Given the description of an element on the screen output the (x, y) to click on. 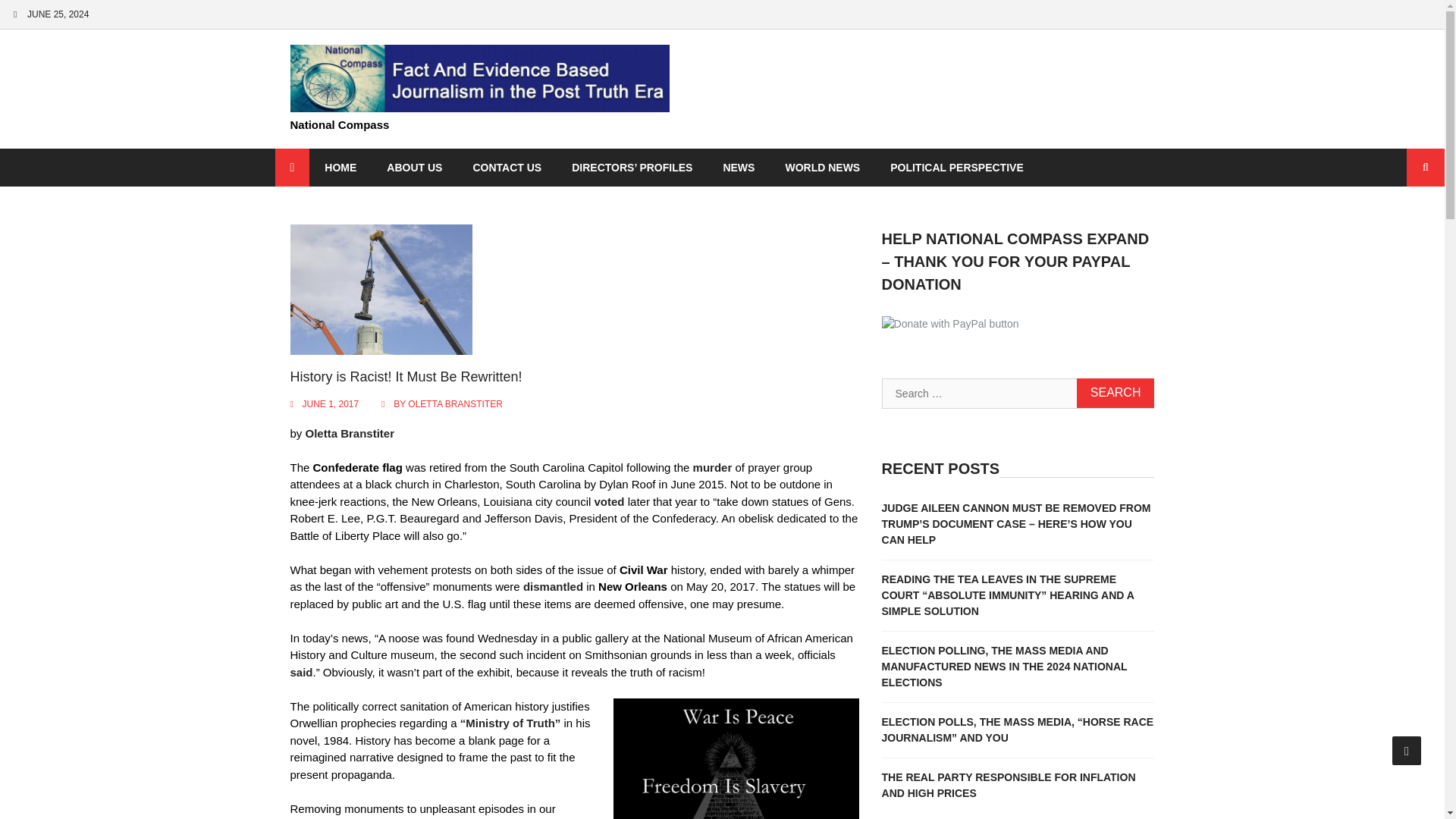
ABOUT US (414, 167)
Oletta Branstiter (349, 432)
voted (609, 501)
Search (1115, 392)
Search (1115, 392)
PayPal - The safer, easier way to pay online! (950, 324)
dismantled (552, 585)
NEWS (738, 167)
said (301, 671)
CONTACT US (506, 167)
